Given the description of an element on the screen output the (x, y) to click on. 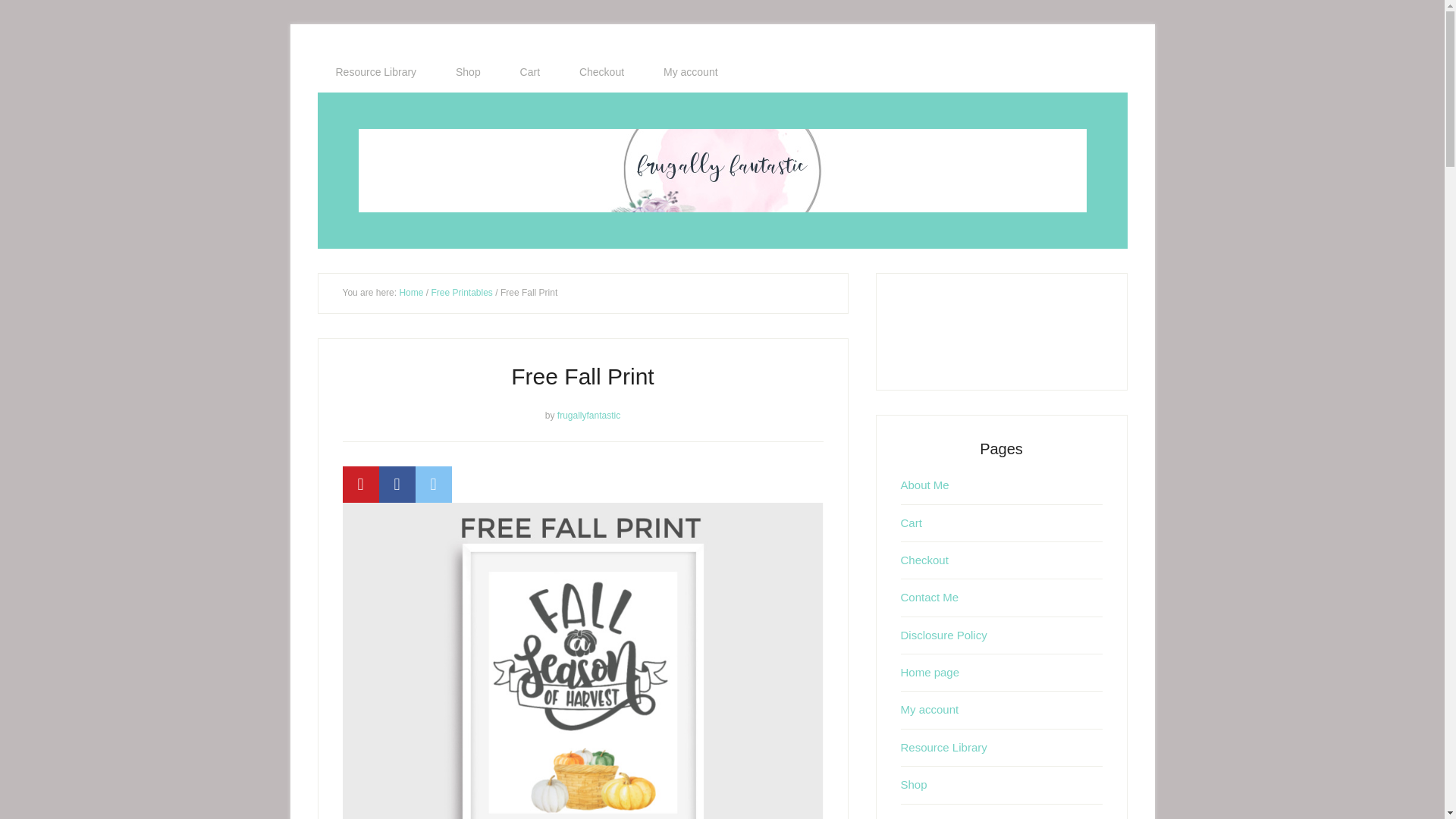
Resource Library (944, 747)
frugallyfantastic (588, 414)
Checkout (925, 559)
Cart (529, 71)
Cart (911, 521)
Home page (930, 671)
About Me (925, 484)
Resource Library (375, 71)
Shop (468, 71)
Contact Me (930, 596)
Home (410, 292)
Free Printables (461, 292)
My account (930, 708)
My account (690, 71)
